Given the description of an element on the screen output the (x, y) to click on. 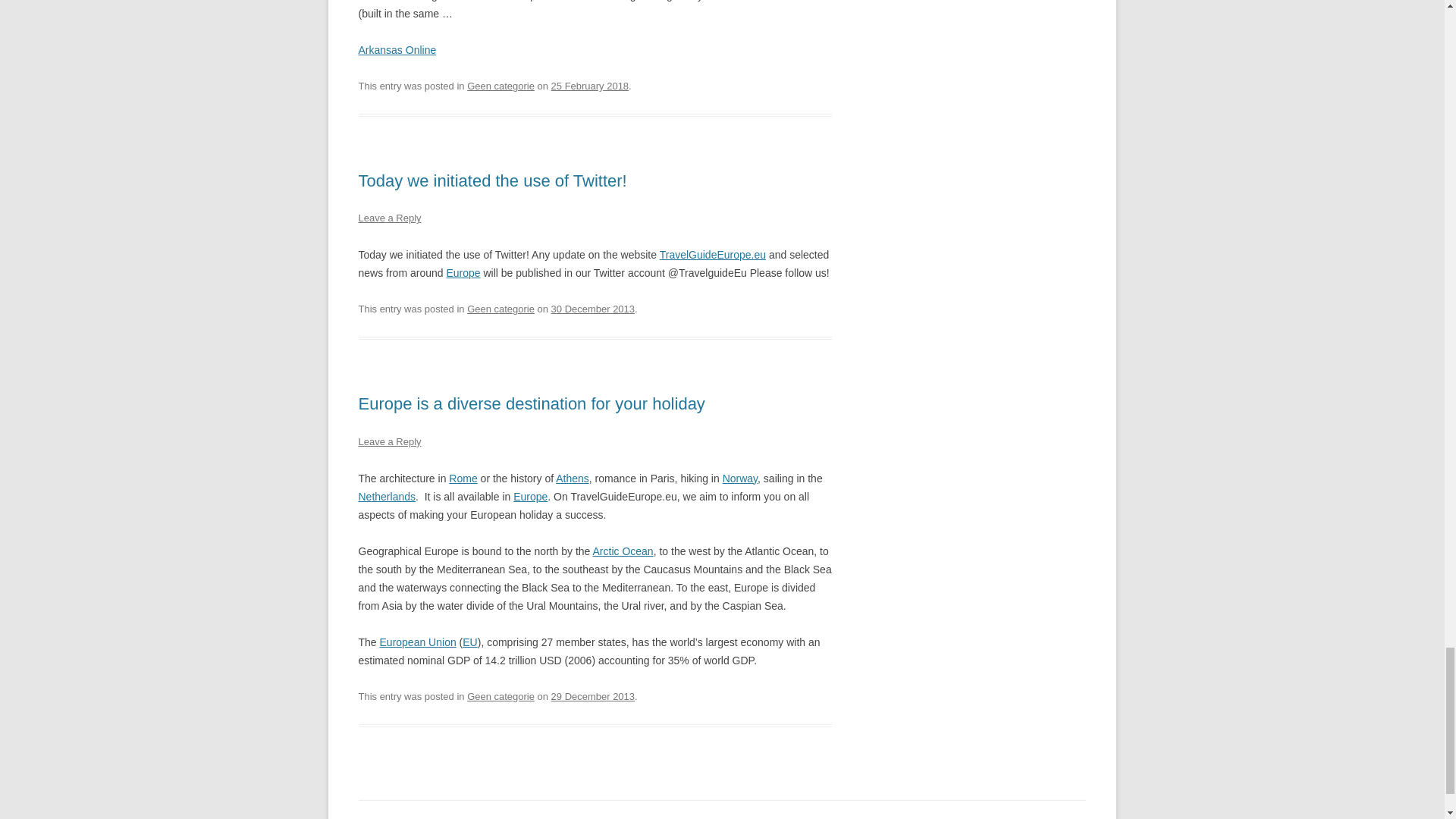
22:09 (592, 308)
21:20 (589, 85)
15:46 (592, 696)
